Given the description of an element on the screen output the (x, y) to click on. 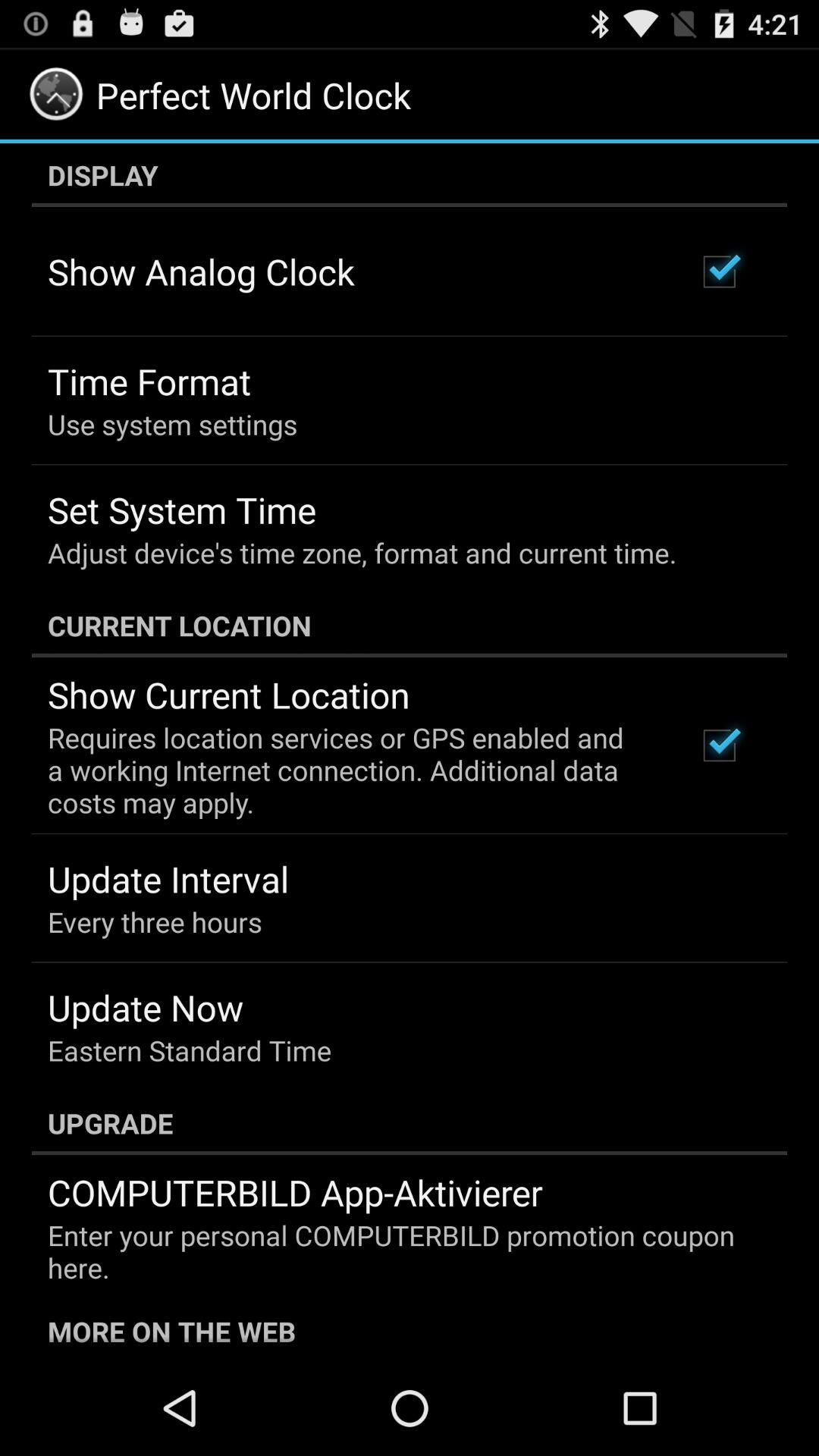
launch the icon below time format item (172, 424)
